Given the description of an element on the screen output the (x, y) to click on. 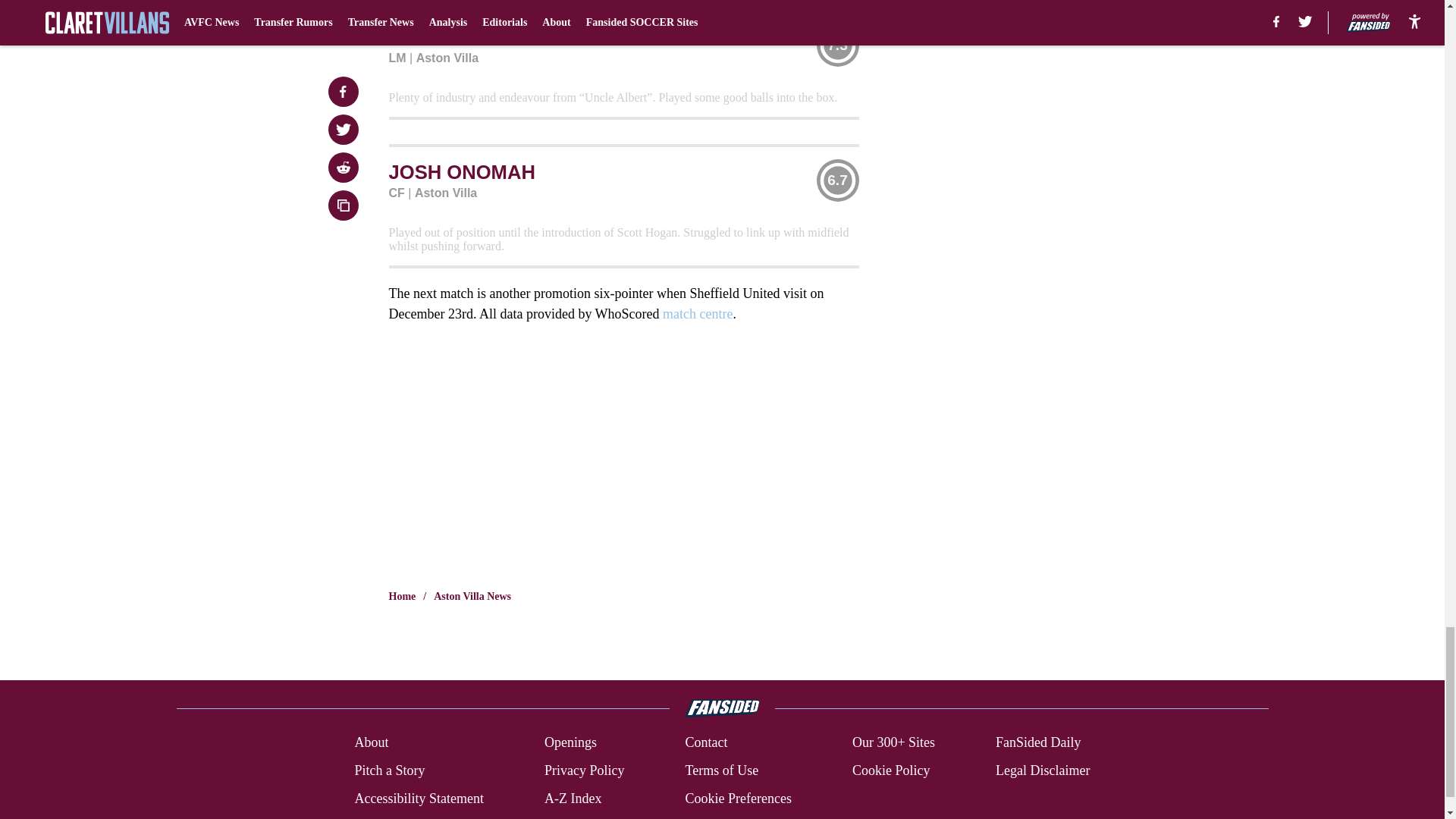
Pitch a Story (389, 770)
Terms of Use (721, 770)
Openings (570, 742)
Cookie Policy (890, 770)
Legal Disclaimer (1042, 770)
Contact (705, 742)
Accessibility Statement (418, 798)
FanSided Daily (1038, 742)
A-Z Index (572, 798)
Cookie Preferences (737, 798)
